Given the description of an element on the screen output the (x, y) to click on. 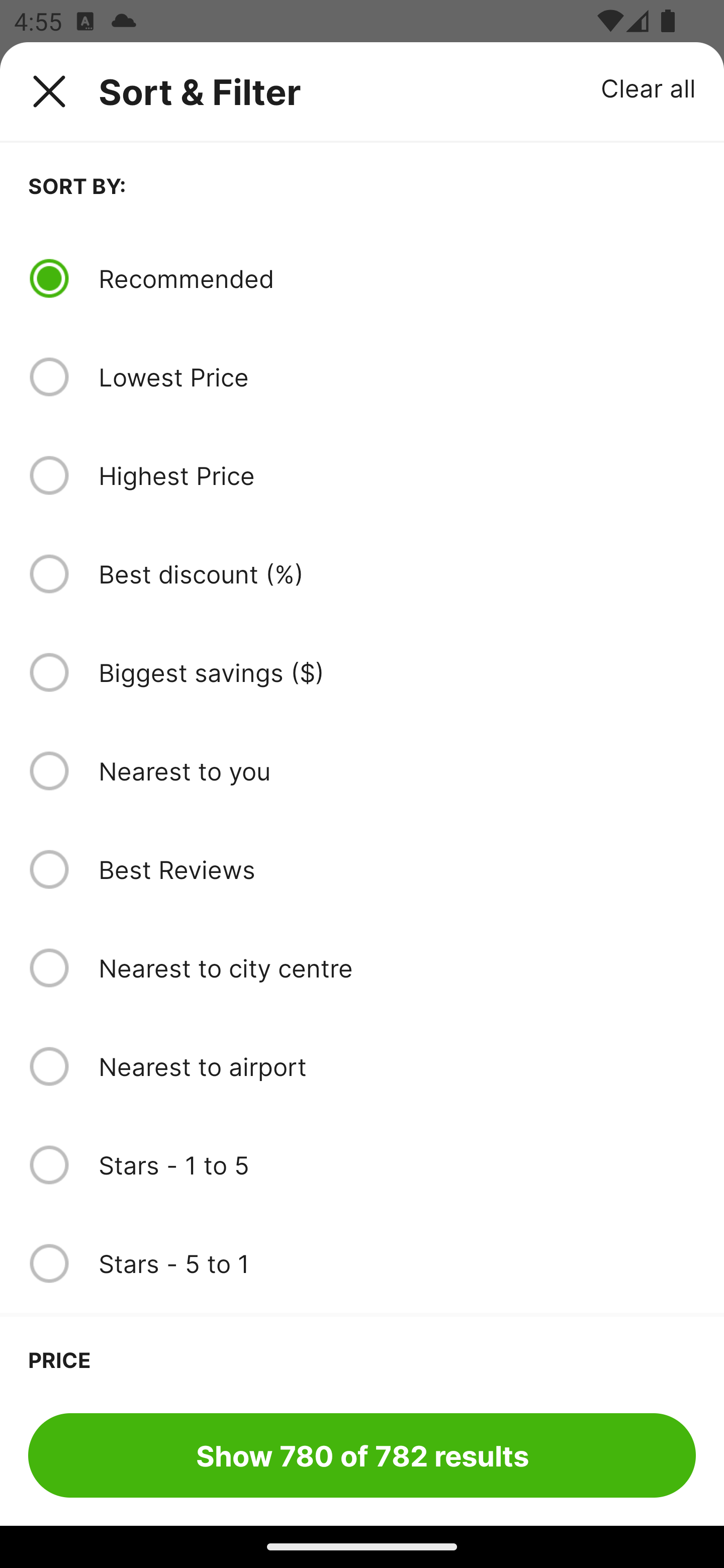
Clear all (648, 87)
Recommended  (396, 278)
Lowest Price (396, 377)
Highest Price (396, 474)
Best discount (%) (396, 573)
Biggest savings ($) (396, 672)
Nearest to you (396, 770)
Best Reviews (396, 869)
Nearest to city centre (396, 968)
Nearest to airport (396, 1065)
Stars - 1 to 5 (396, 1164)
Stars - 5 to 1 (396, 1263)
Show 780 of 782 results (361, 1454)
